Given the description of an element on the screen output the (x, y) to click on. 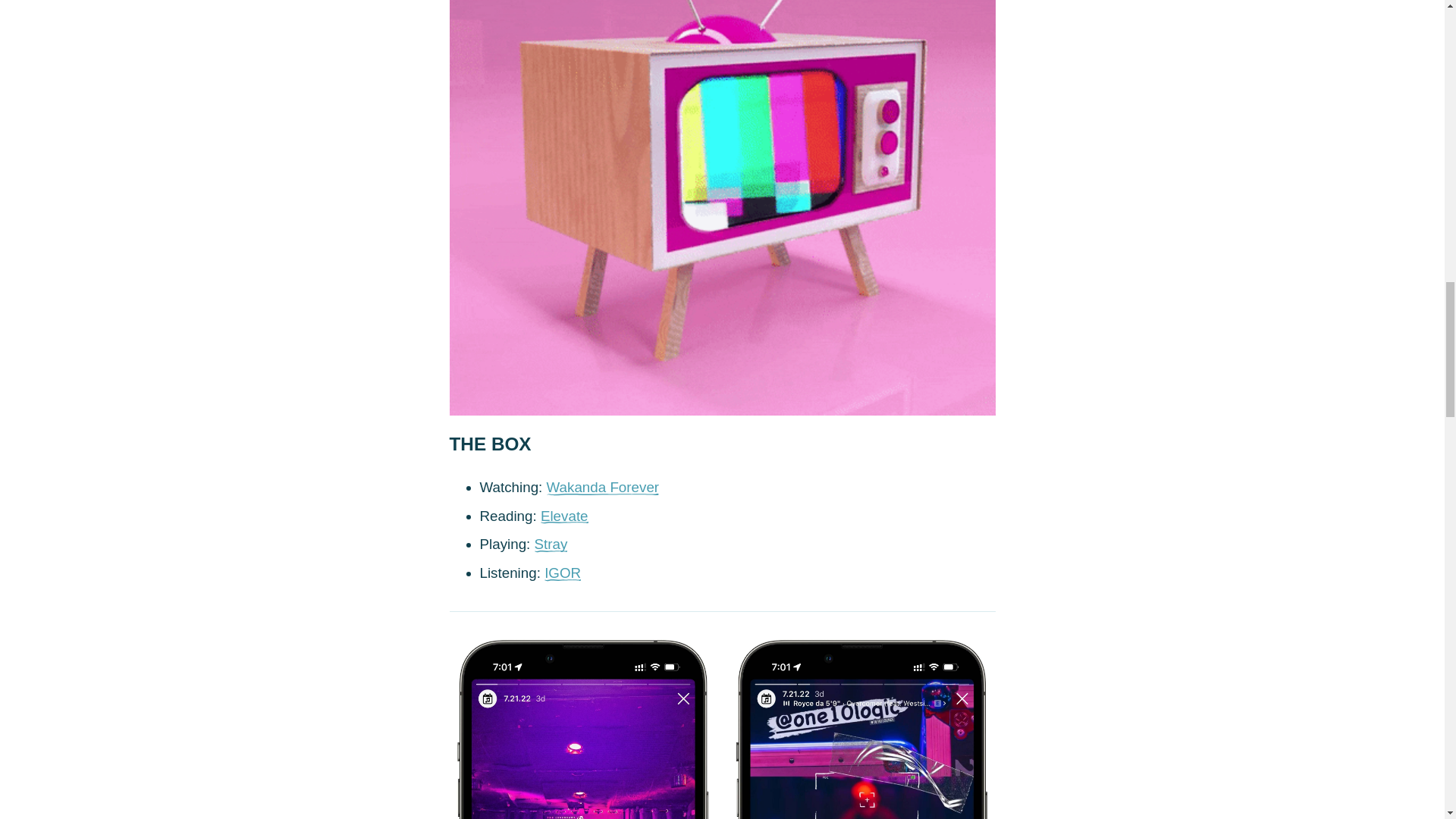
Elevate (564, 515)
Wakanda Forever (603, 487)
Stray (550, 544)
IGOR (562, 573)
